Given the description of an element on the screen output the (x, y) to click on. 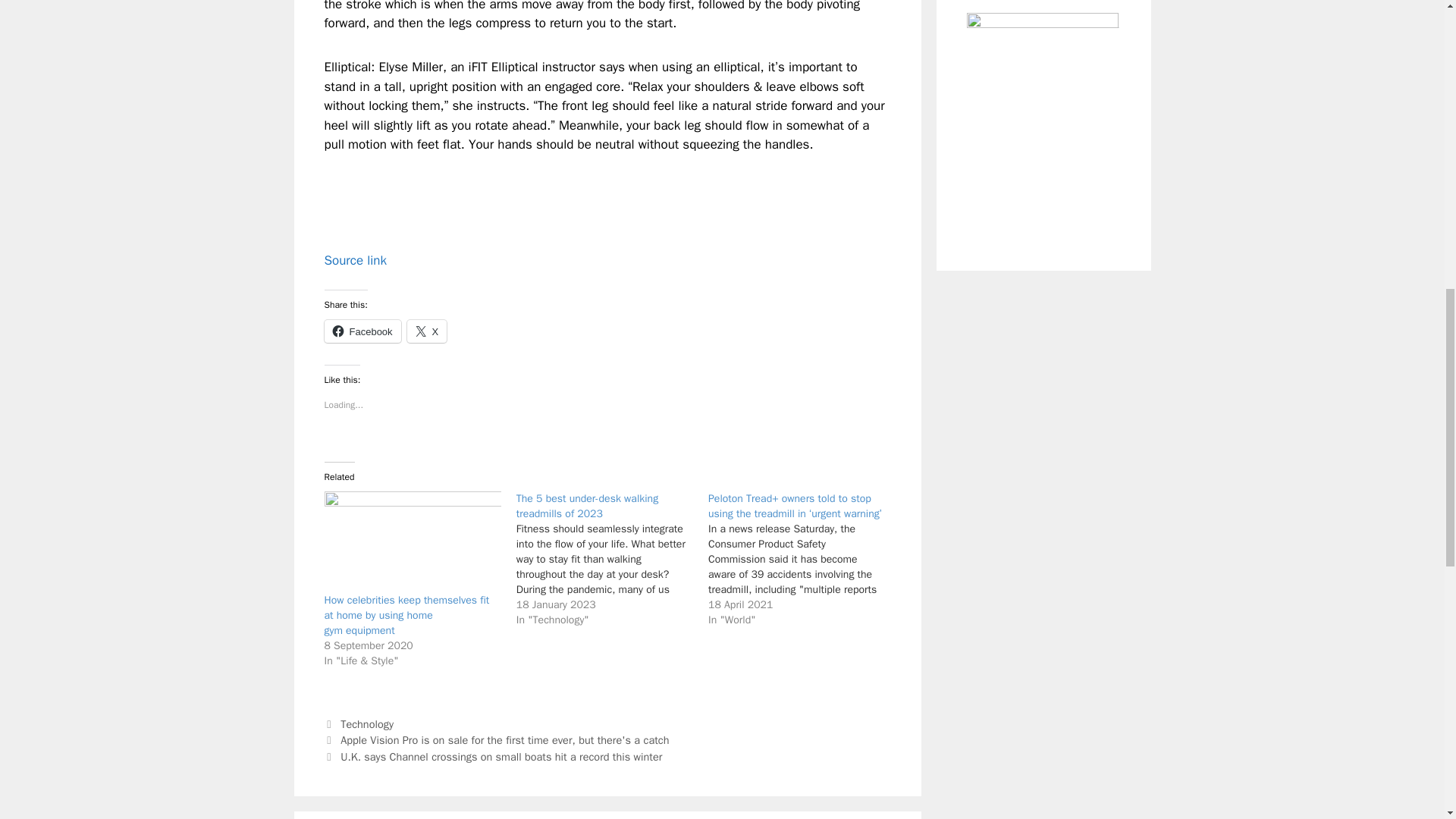
The 5 best under-desk walking treadmills of 2023 (611, 559)
Source link (355, 260)
The 5 best under-desk walking treadmills of 2023 (587, 506)
Click to share on Facebook (362, 331)
Click to share on X (426, 331)
Technology (366, 724)
X (426, 331)
Facebook (362, 331)
The 5 best under-desk walking treadmills of 2023 (587, 506)
